Given the description of an element on the screen output the (x, y) to click on. 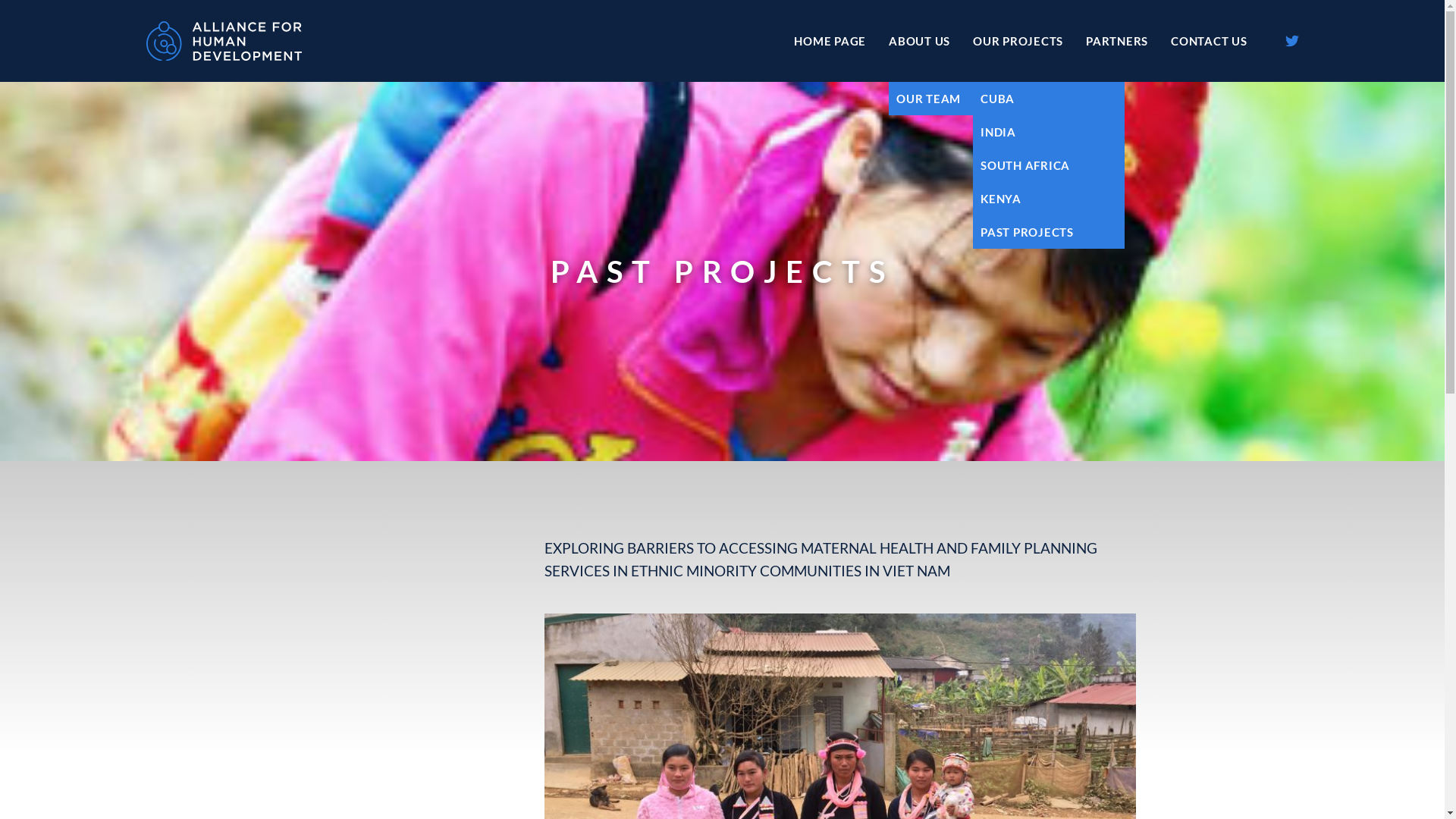
HOME PAGE Element type: text (829, 40)
PARTNERS Element type: text (1116, 40)
KENYA Element type: text (1036, 198)
ABOUT US Element type: text (919, 40)
OUR PROJECTS Element type: text (1017, 40)
OUR TEAM Element type: text (964, 98)
CUBA Element type: text (1036, 98)
PAST PROJECTS Element type: text (1048, 231)
CONTACT US Element type: text (1208, 40)
INDIA Element type: text (1036, 131)
SOUTH AFRICA Element type: text (1036, 165)
